Given the description of an element on the screen output the (x, y) to click on. 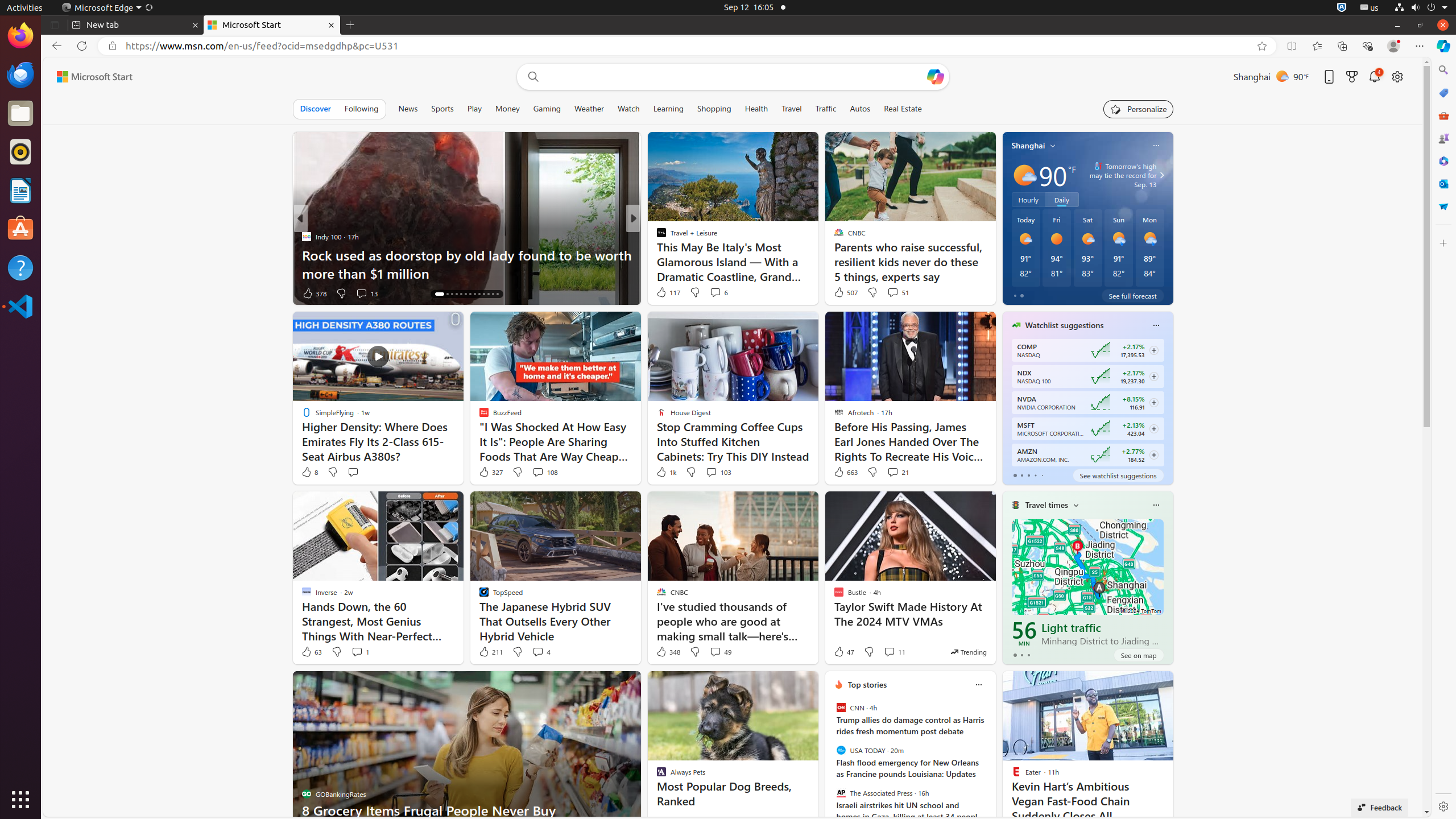
12 Like Element type: toggle-button (662, 292)
View comments 21 Comment Element type: push-button (892, 471)
Show Applications Element type: toggle-button (20, 799)
Favorites Element type: push-button (1316, 45)
90°F Element type: link (1057, 174)
